Given the description of an element on the screen output the (x, y) to click on. 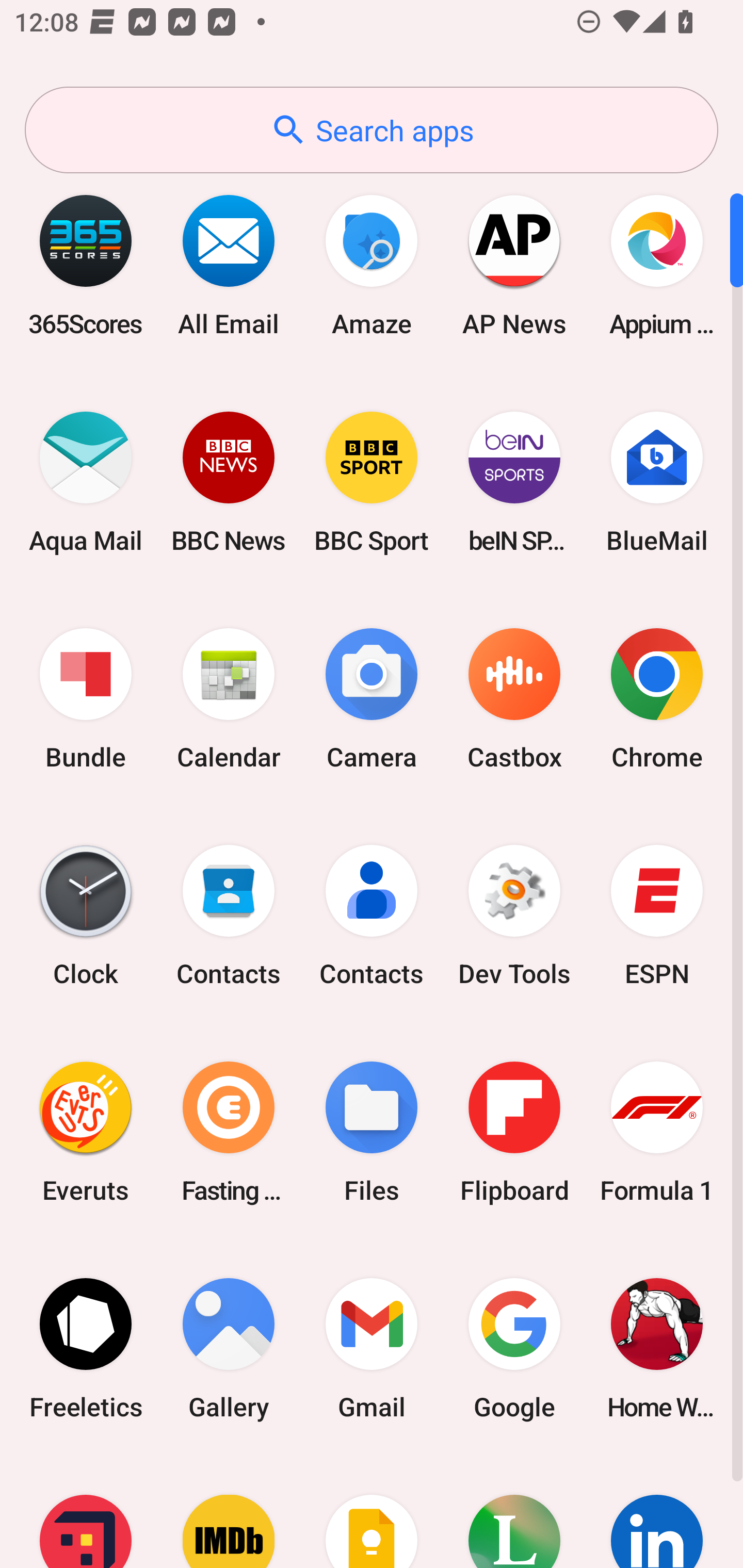
  Search apps (371, 130)
365Scores (85, 264)
All Email (228, 264)
Amaze (371, 264)
AP News (514, 264)
Appium Settings (656, 264)
Aqua Mail (85, 482)
BBC News (228, 482)
BBC Sport (371, 482)
beIN SPORTS (514, 482)
BlueMail (656, 482)
Bundle (85, 699)
Calendar (228, 699)
Camera (371, 699)
Castbox (514, 699)
Chrome (656, 699)
Clock (85, 915)
Contacts (228, 915)
Contacts (371, 915)
Dev Tools (514, 915)
ESPN (656, 915)
Everuts (85, 1131)
Fasting Coach (228, 1131)
Files (371, 1131)
Flipboard (514, 1131)
Formula 1 (656, 1131)
Freeletics (85, 1348)
Gallery (228, 1348)
Gmail (371, 1348)
Google (514, 1348)
Home Workout (656, 1348)
Hotels.com (85, 1512)
IMDb (228, 1512)
Keep Notes (371, 1512)
Lifesum (514, 1512)
LinkedIn (656, 1512)
